Given the description of an element on the screen output the (x, y) to click on. 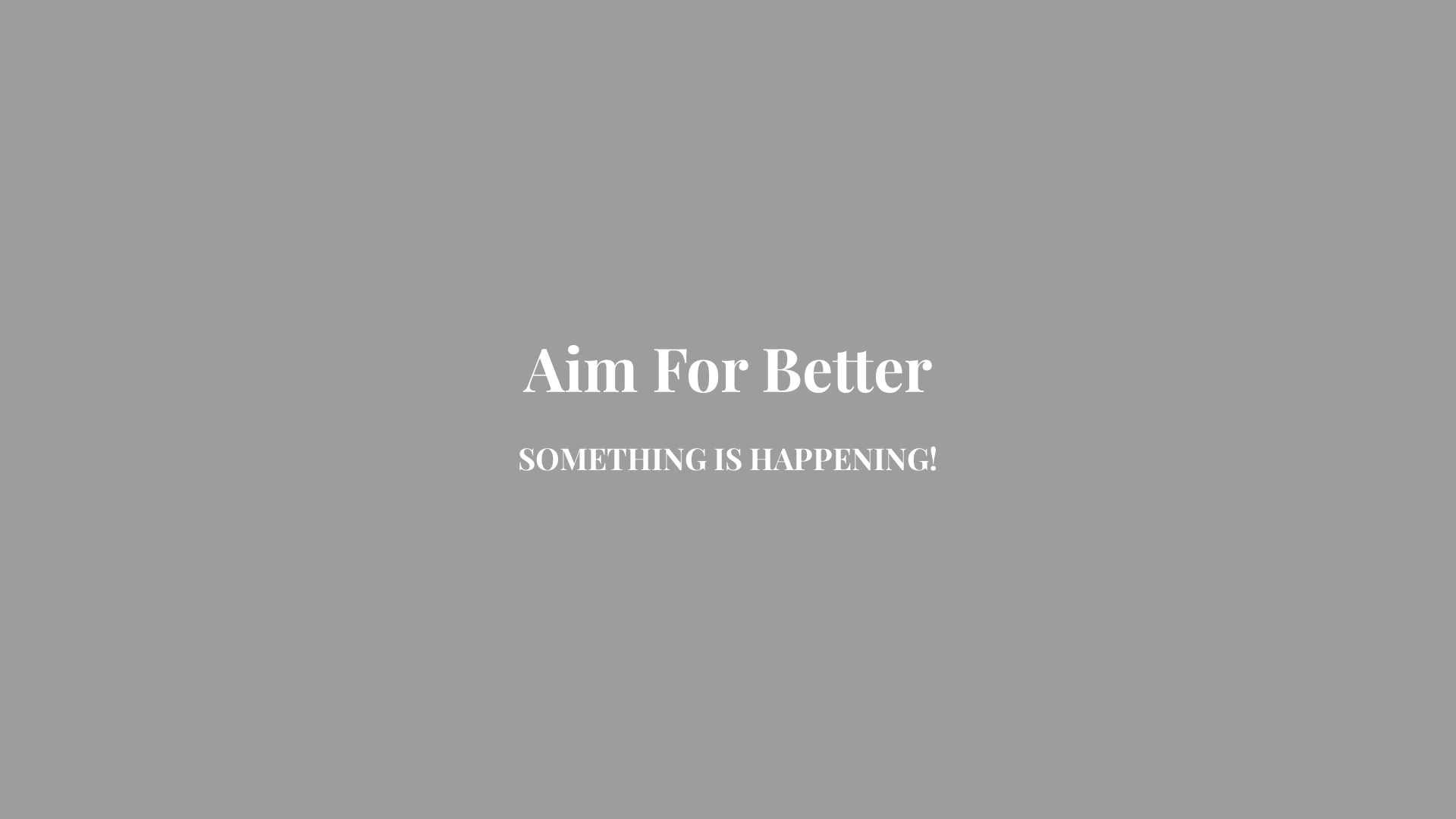
Aim For Better Element type: text (727, 380)
